Given the description of an element on the screen output the (x, y) to click on. 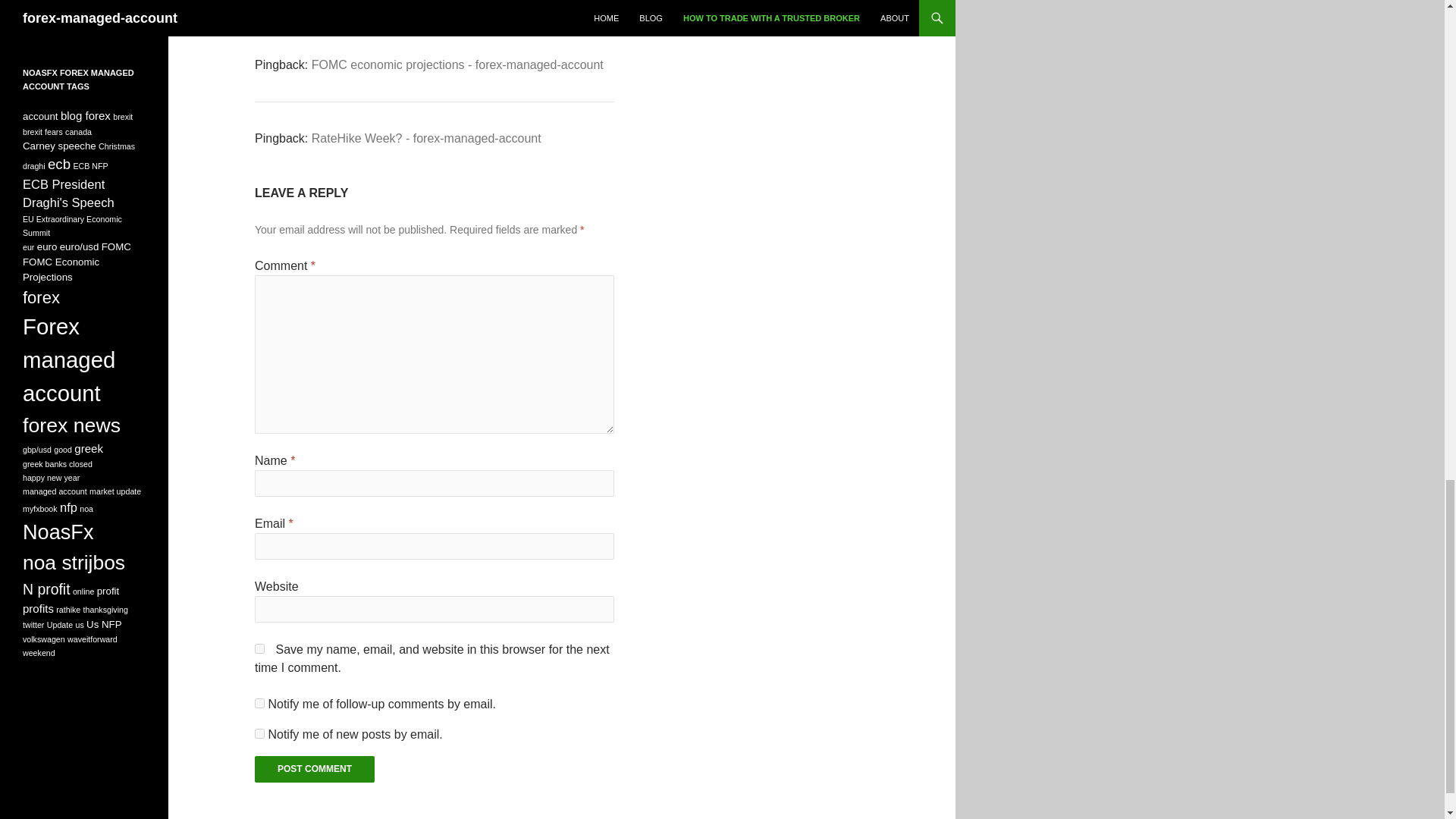
subscribe (259, 703)
subscribe (259, 733)
Post Comment (314, 768)
Post Comment (314, 768)
FOMC economic projections - forex-managed-account (457, 64)
yes (259, 648)
RateHike Week? - forex-managed-account (426, 137)
